Given the description of an element on the screen output the (x, y) to click on. 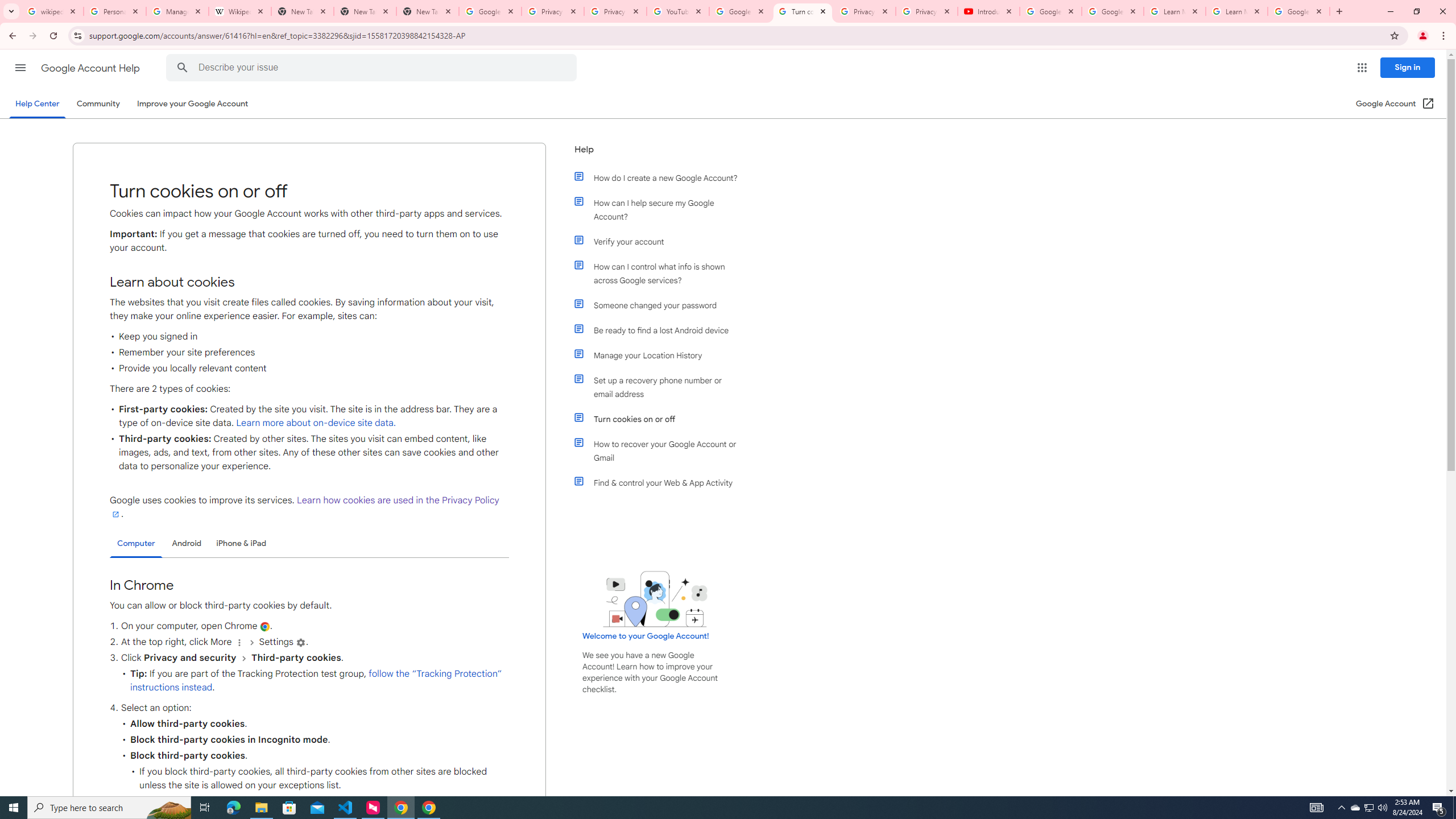
Be ready to find a lost Android device (661, 330)
Google Account (1298, 11)
Google Account Help (91, 68)
Android (186, 542)
Main menu (20, 67)
Find & control your Web & App Activity (661, 482)
